Given the description of an element on the screen output the (x, y) to click on. 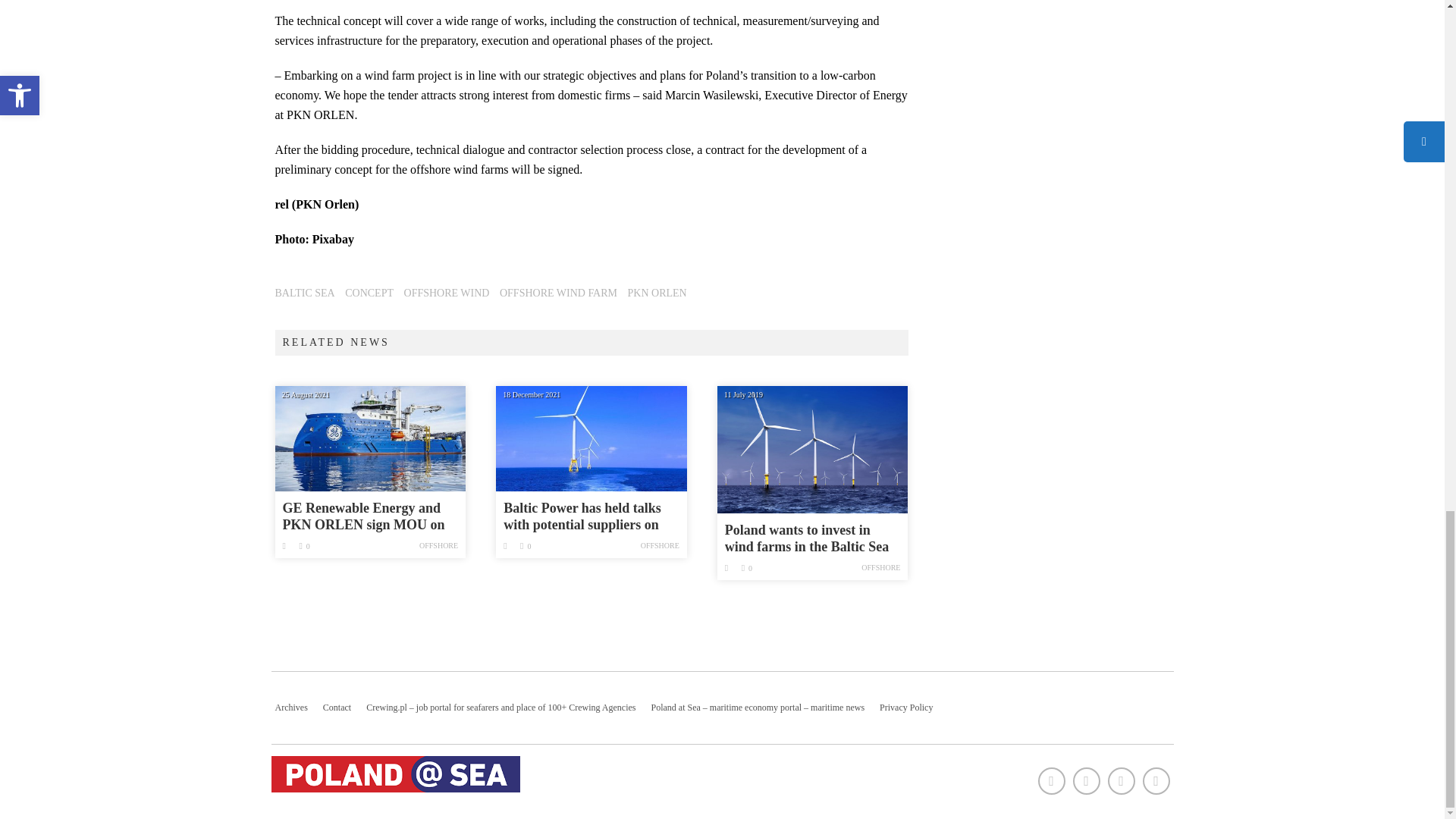
Poland wants to invest in wind farms in the Baltic Sea (812, 449)
Poland wants to invest in wind farms in the Baltic Sea (813, 538)
